Given the description of an element on the screen output the (x, y) to click on. 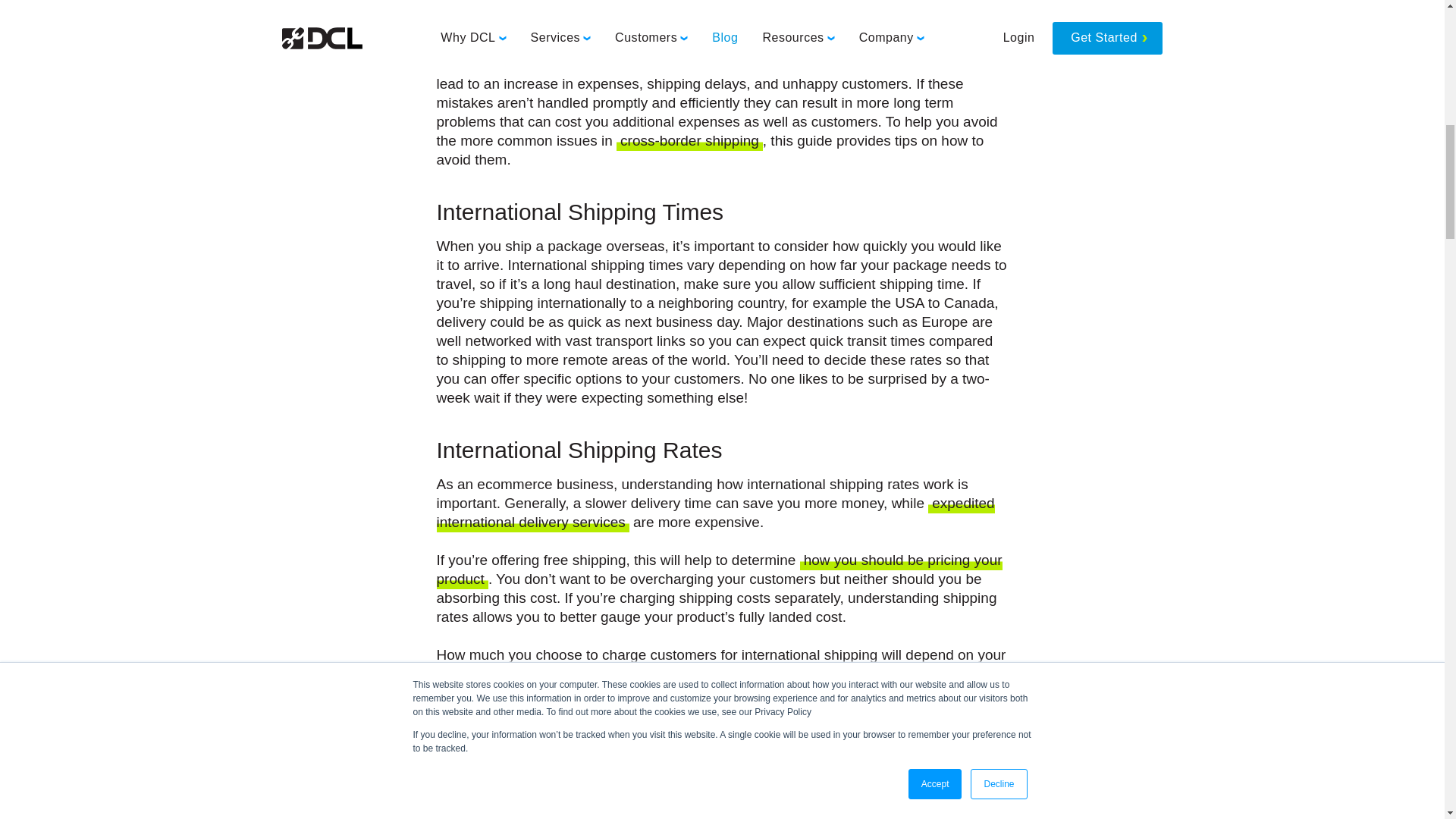
how you should be pricing your product (719, 570)
cross-border shipping (688, 141)
shipping (898, 46)
expedited international delivery services (715, 513)
ecommerce business (591, 27)
most cost effective way to ship (826, 814)
